Given the description of an element on the screen output the (x, y) to click on. 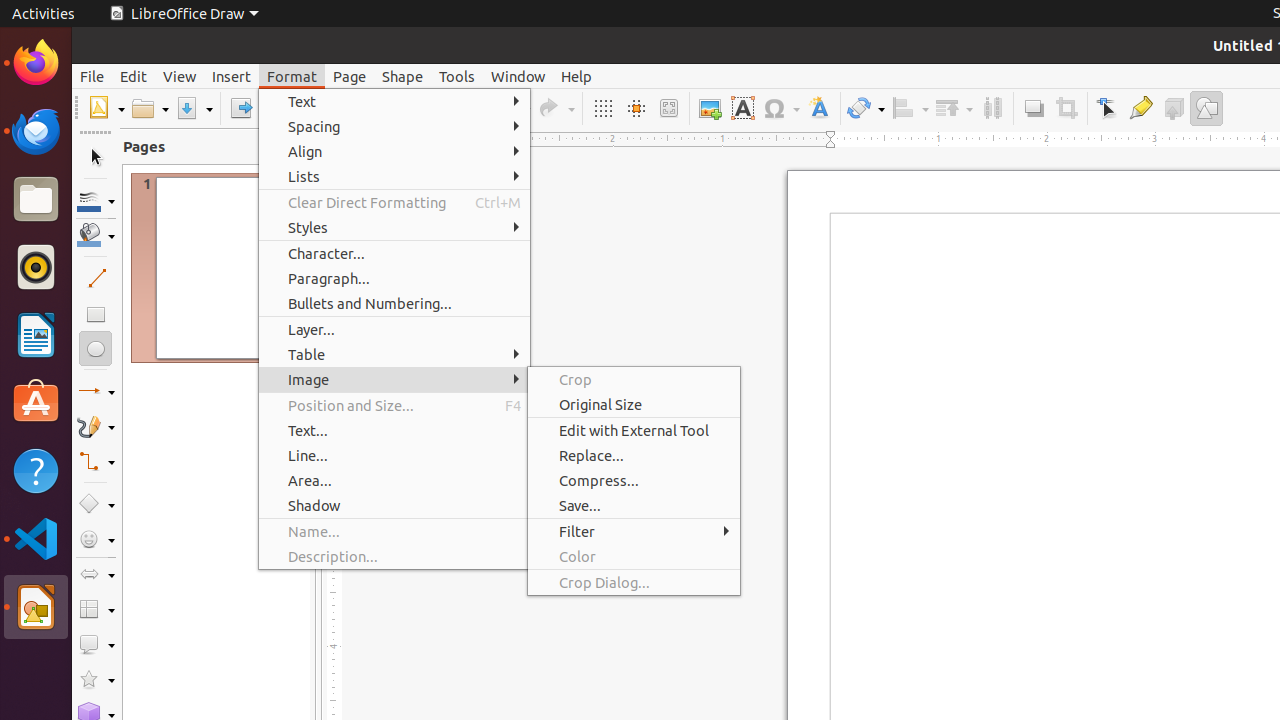
Table Element type: menu (394, 354)
Image Element type: menu (394, 379)
View Element type: menu (179, 76)
Insert Element type: menu (231, 76)
LibreOffice Draw Element type: menu (183, 13)
